Given the description of an element on the screen output the (x, y) to click on. 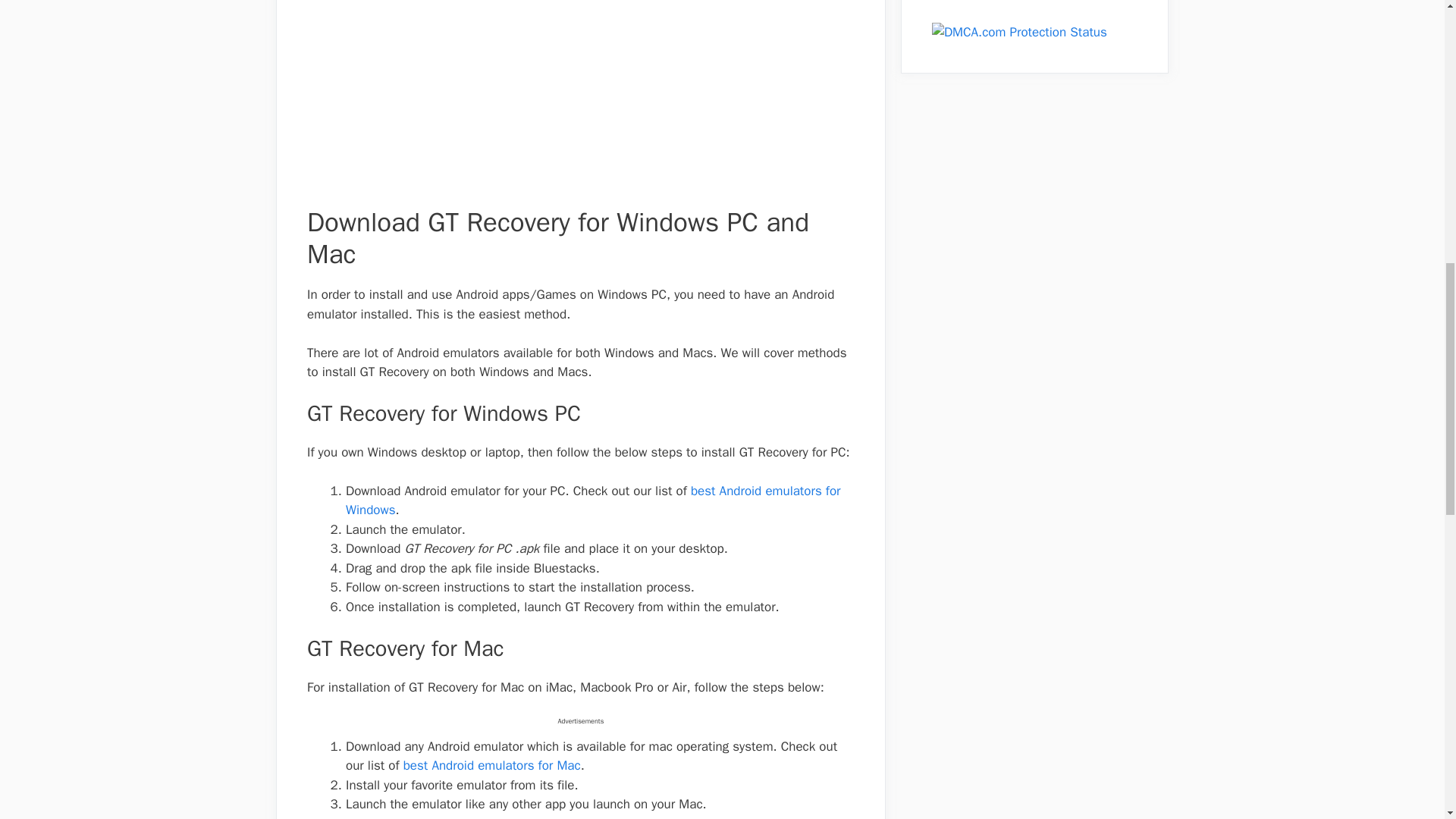
best Android emulators for Mac (491, 765)
DMCA.com Protection Status (1018, 32)
best Android emulators for Windows (593, 500)
